Given the description of an element on the screen output the (x, y) to click on. 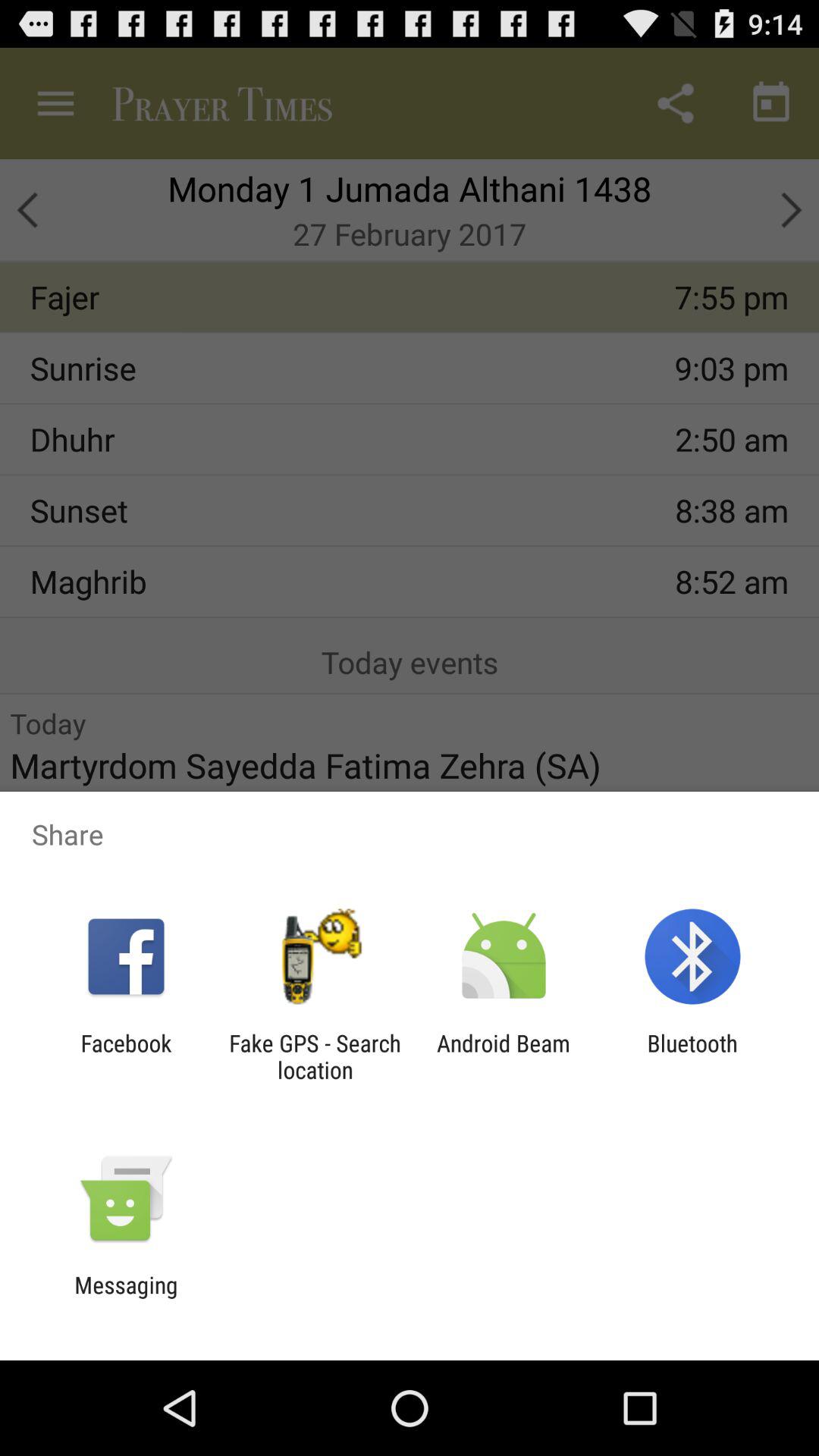
jump until the messaging (126, 1298)
